Given the description of an element on the screen output the (x, y) to click on. 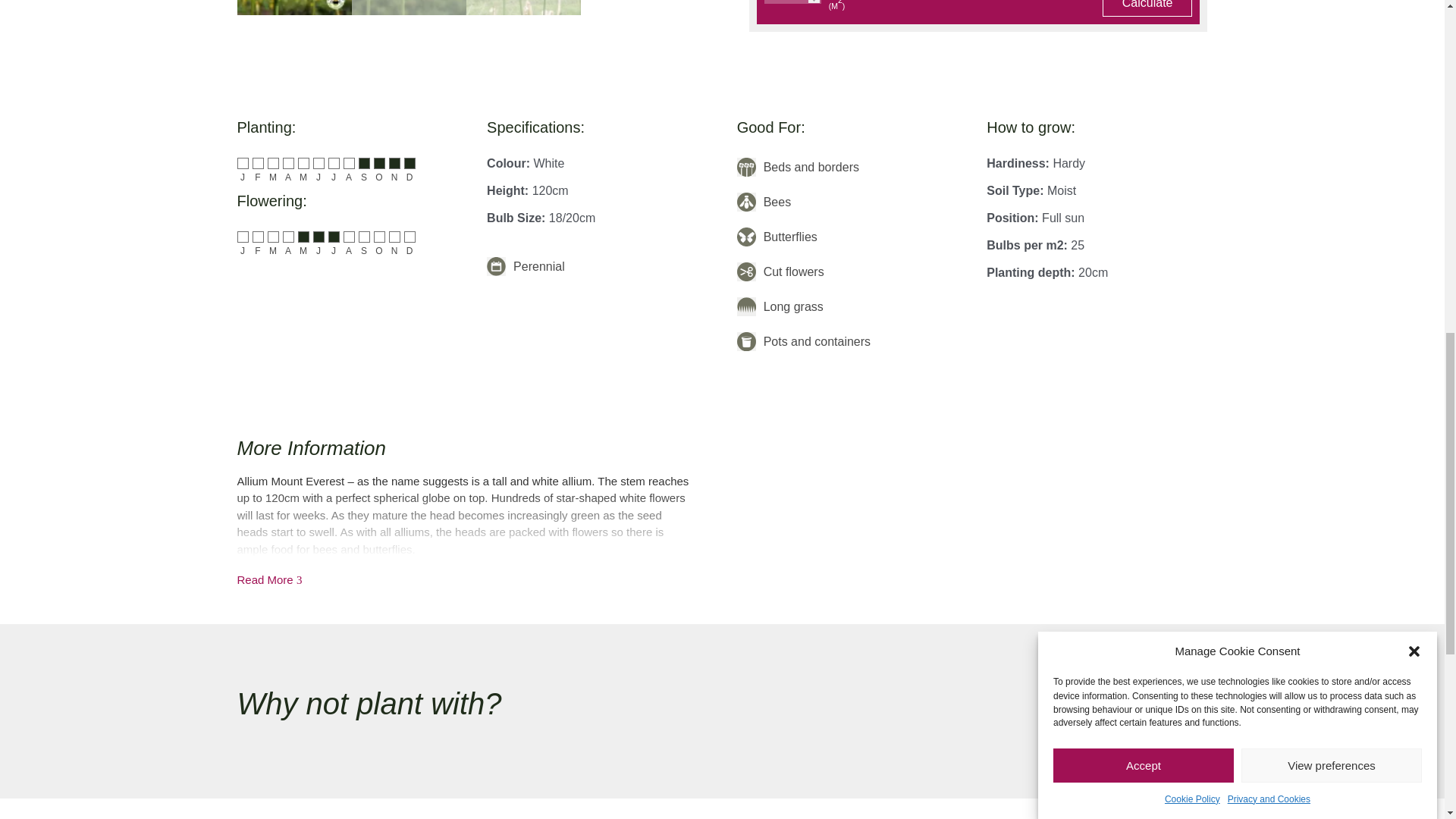
Privacy and Cookies (1268, 47)
View preferences (1331, 76)
Cookie Policy (1192, 60)
Accept (1142, 121)
